Given the description of an element on the screen output the (x, y) to click on. 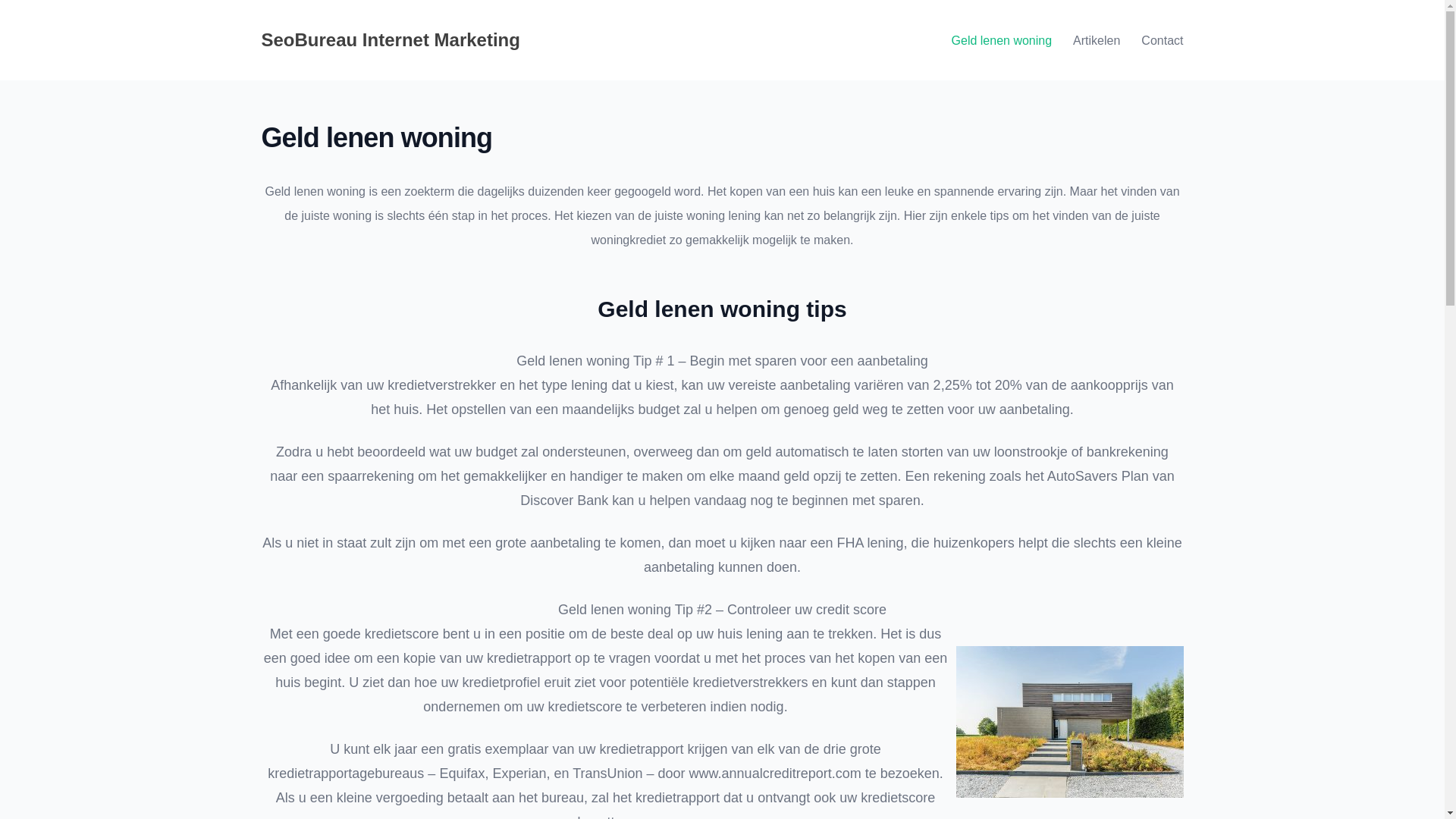
Contact Element type: text (1161, 40)
SeoBureau Internet Marketing Element type: text (389, 39)
Artikelen Element type: text (1096, 40)
Geld lenen woning Element type: text (1002, 40)
